Given the description of an element on the screen output the (x, y) to click on. 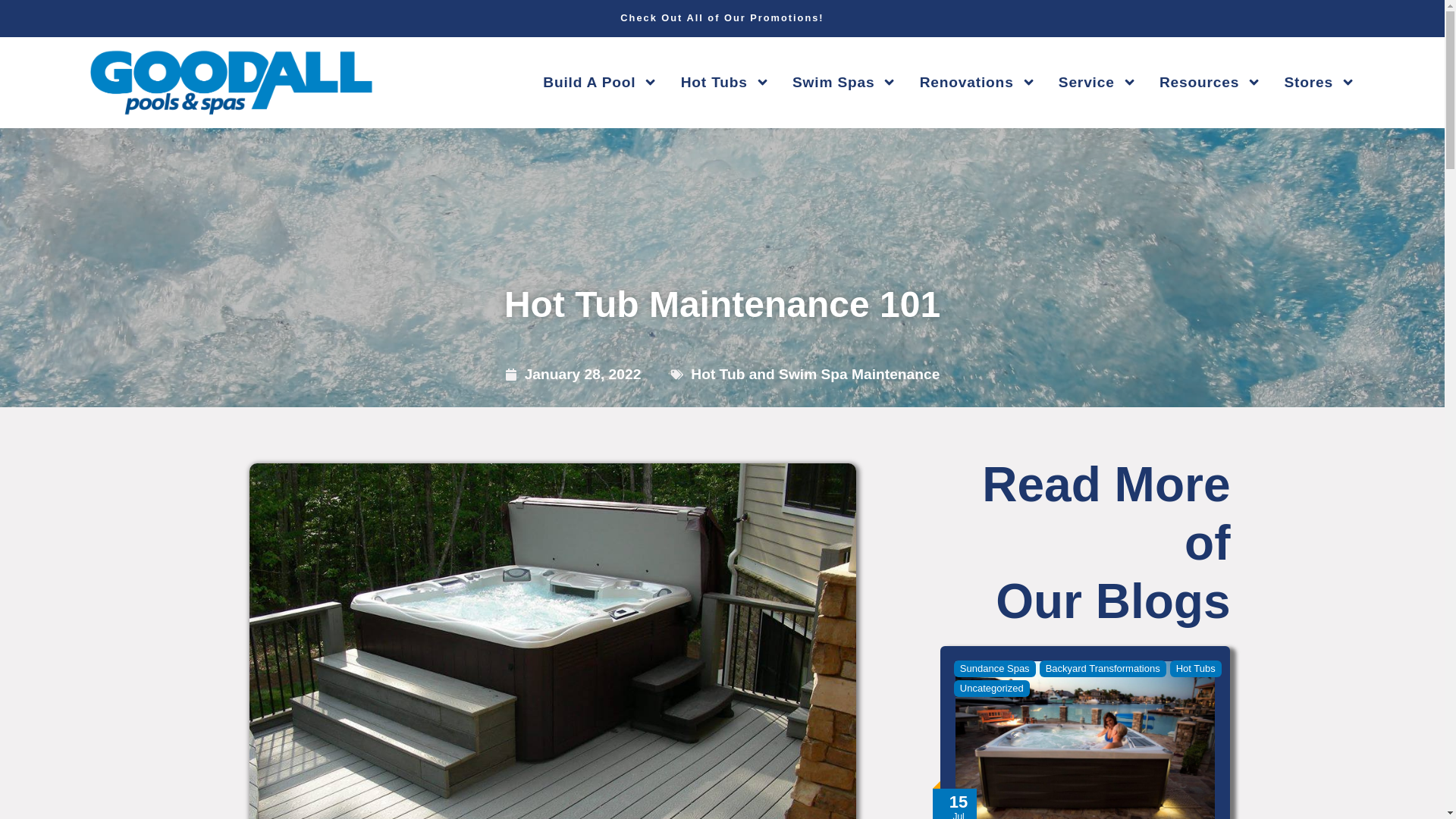
Renovations (977, 82)
Service (1097, 82)
Hot Tubs (725, 82)
Resources (1210, 82)
Check Out All of Our Promotions! (722, 17)
Swim Spas (844, 82)
Build A Pool (600, 82)
